Given the description of an element on the screen output the (x, y) to click on. 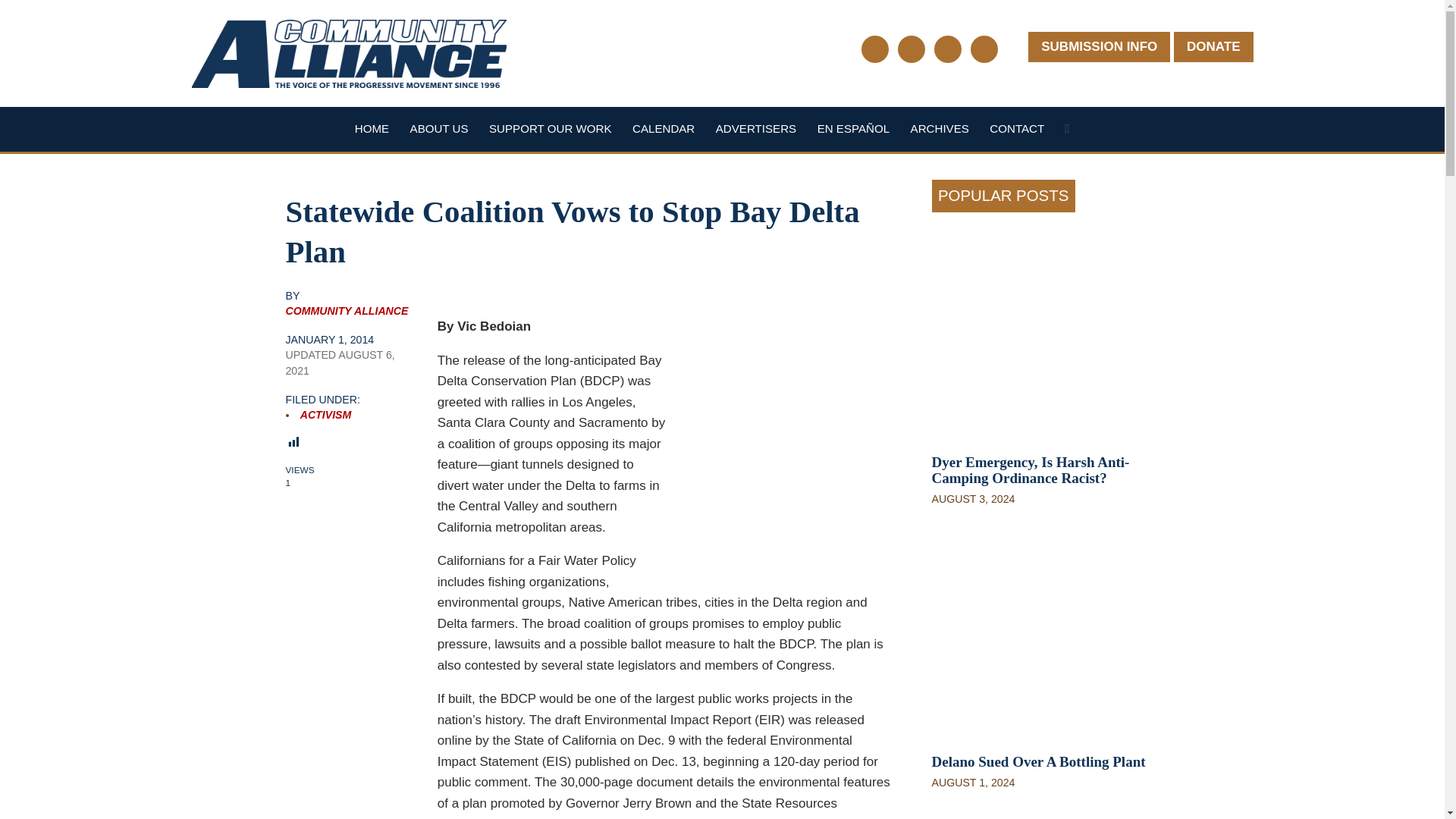
HOME (371, 128)
SUBMISSION INFO (1098, 47)
ARCHIVES (940, 128)
Search (1066, 132)
DONATE (1213, 47)
ABOUT US (439, 128)
Search (1066, 132)
Search (1066, 132)
ADVERTISERS (756, 128)
